Given the description of an element on the screen output the (x, y) to click on. 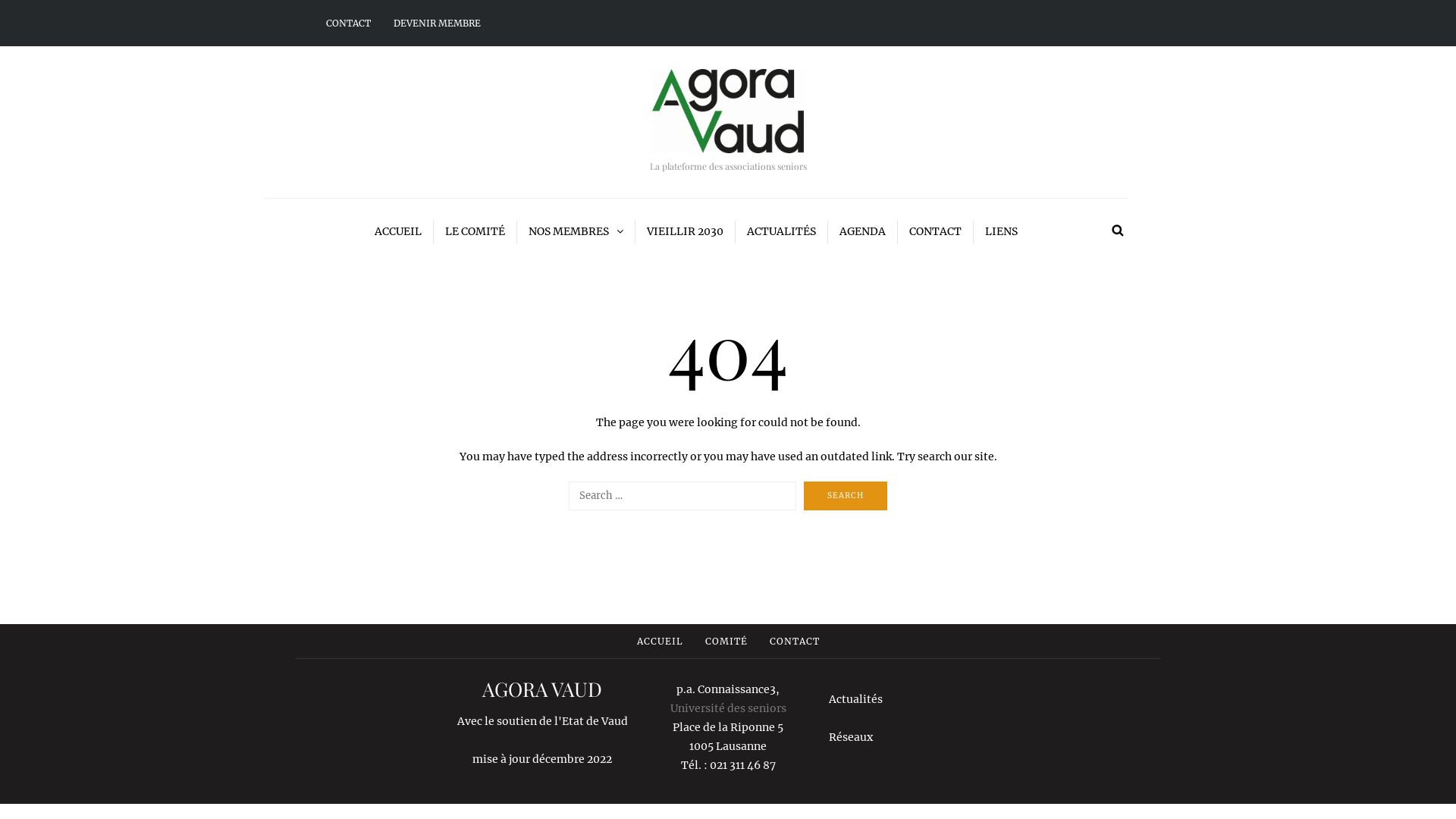
CONTACT Element type: text (793, 640)
LIENS Element type: text (1001, 231)
ACCUEIL Element type: text (397, 231)
DEVENIR MEMBRE Element type: text (437, 23)
Search Element type: text (845, 495)
ACCUEIL Element type: text (660, 640)
CONTACT Element type: text (935, 231)
VIEILLIR 2030 Element type: text (685, 231)
AGENDA Element type: text (862, 231)
NOS MEMBRES Element type: text (576, 231)
CONTACT Element type: text (354, 23)
